Given the description of an element on the screen output the (x, y) to click on. 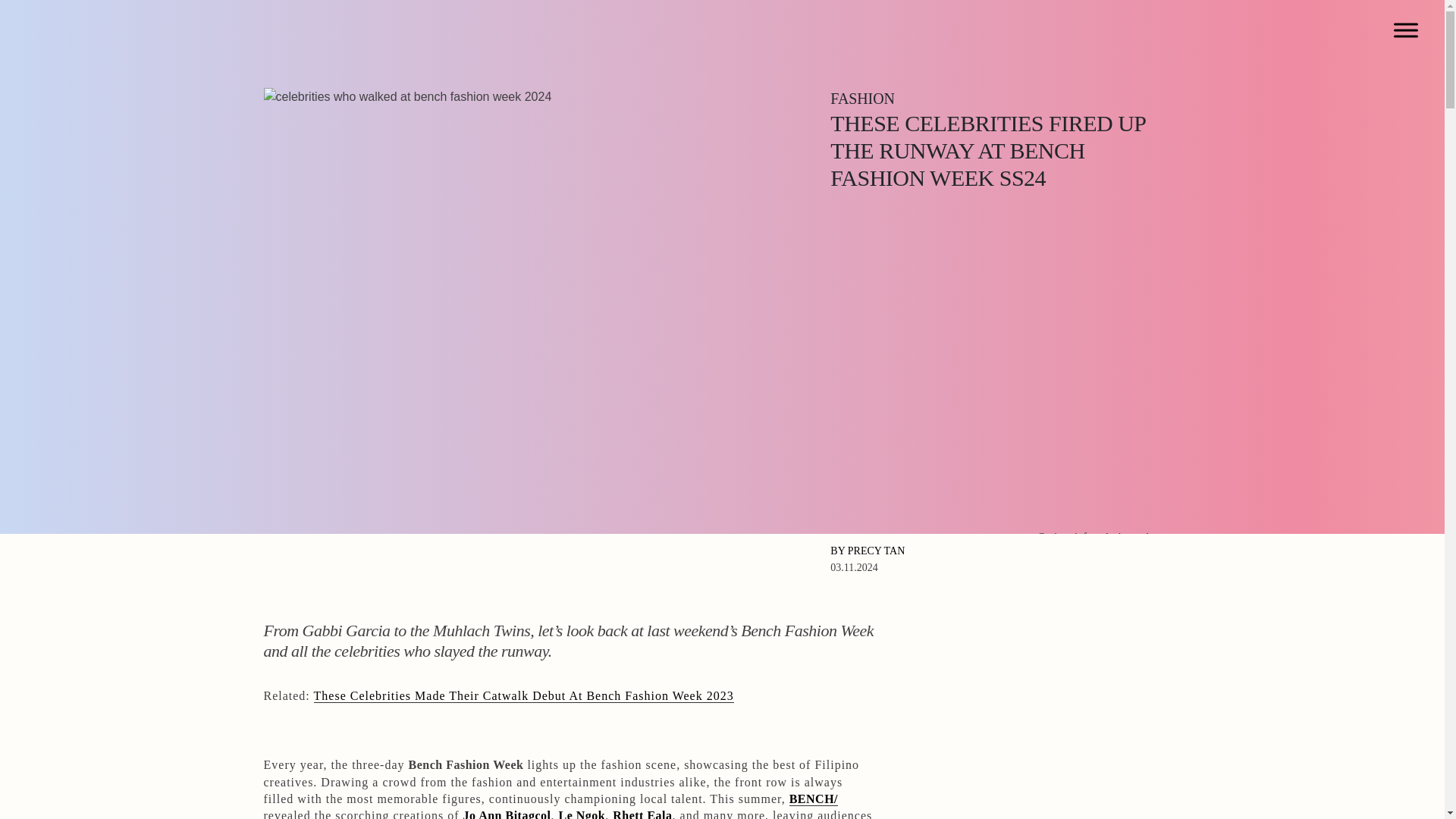
Jo Ann Bitagcol (507, 814)
BY PRECY TAN (866, 549)
FASHION (862, 99)
Rhett Eala (641, 814)
Le Ngok (581, 814)
